Given the description of an element on the screen output the (x, y) to click on. 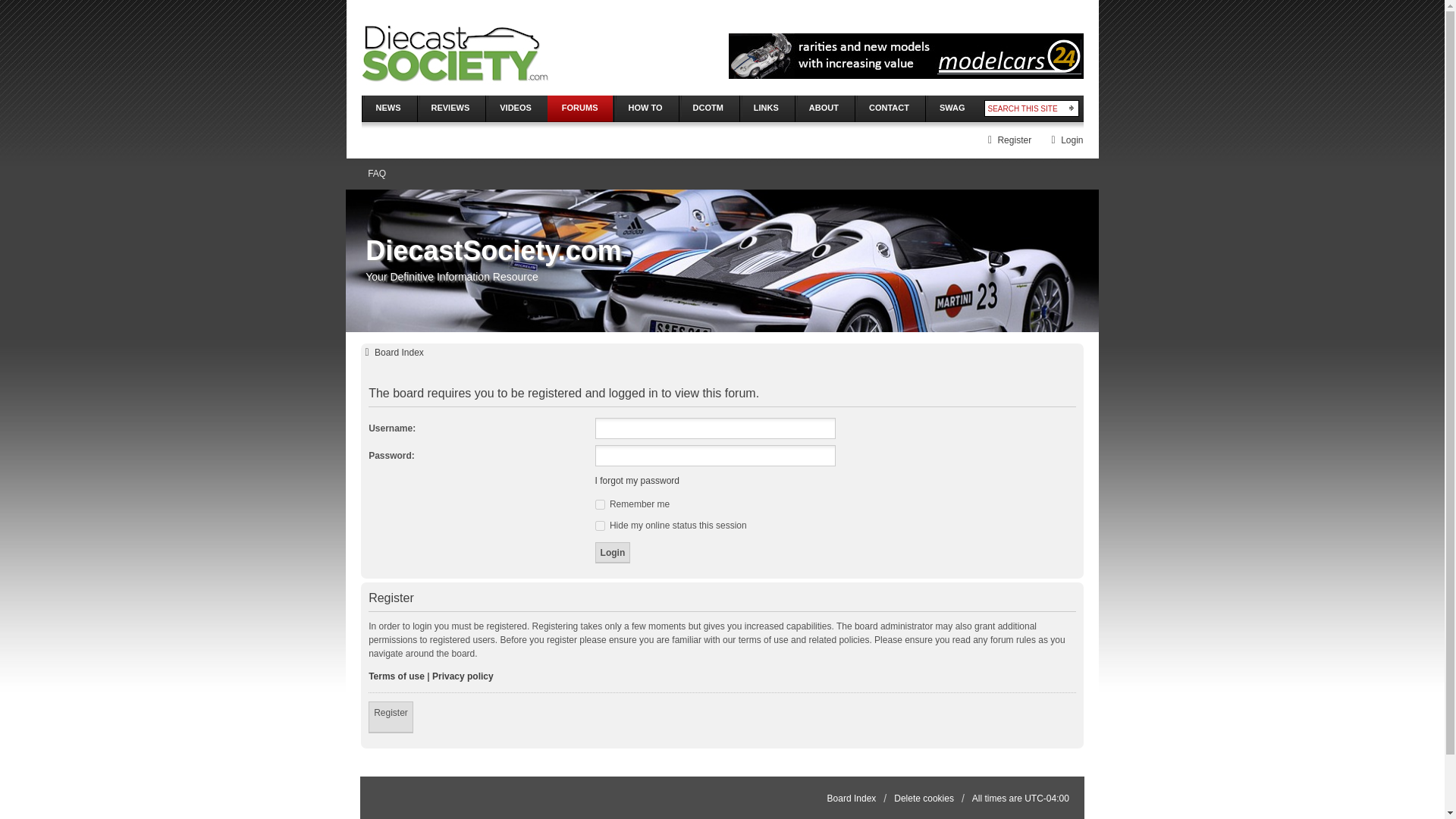
ABOUT (823, 108)
UTC-4 (1046, 798)
FORUMS (579, 108)
SWAG (951, 108)
CONTACT (889, 108)
Your Definitive Information Resource (453, 55)
Board index (392, 352)
Board index (851, 798)
on (600, 525)
Frequently Asked Questions (376, 173)
DCOTM (708, 108)
Board index (722, 245)
Search this site (1024, 108)
Login (1064, 140)
REVIEWS (450, 108)
